Given the description of an element on the screen output the (x, y) to click on. 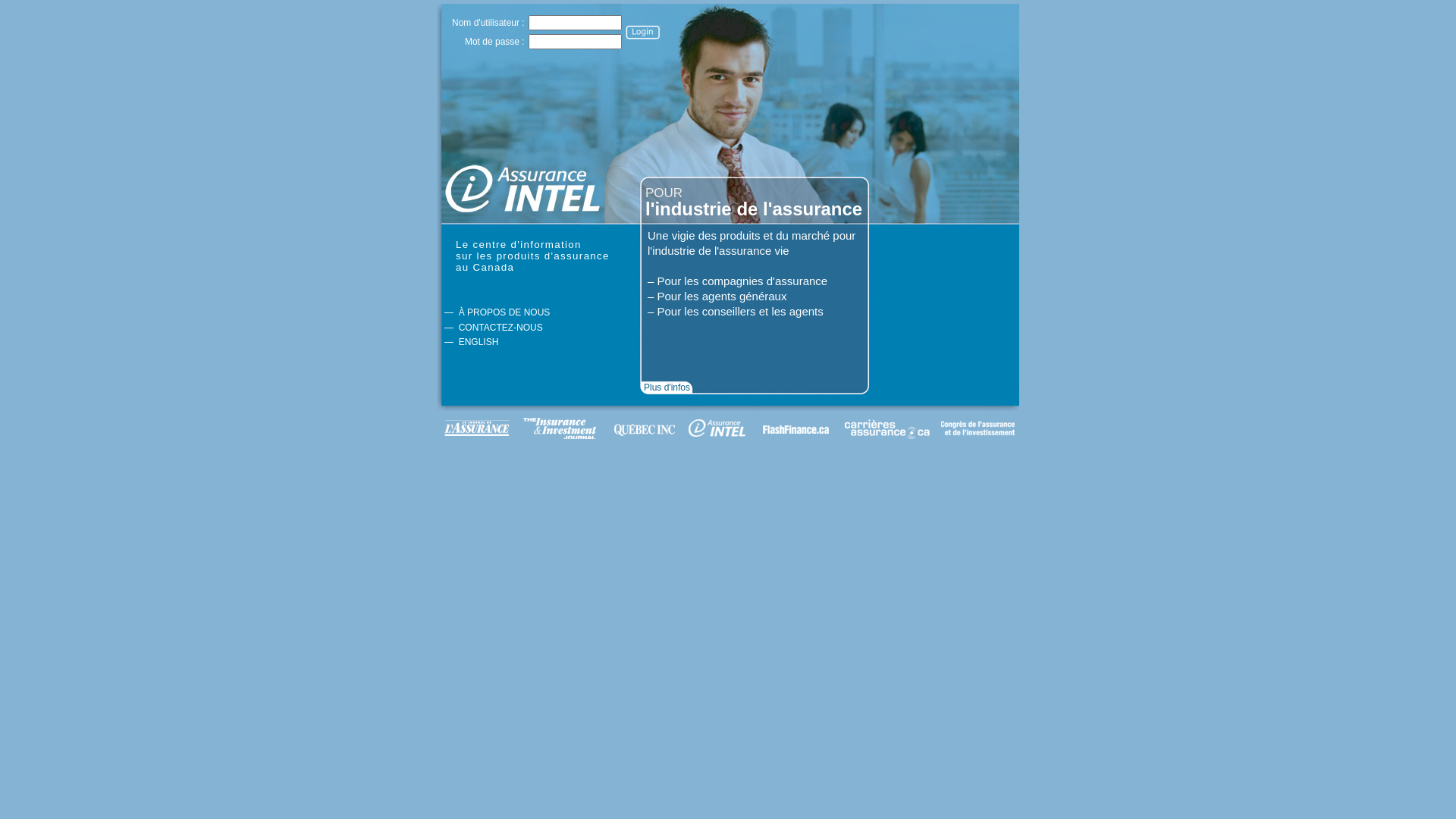
CONTACTEZ-NOUS Element type: text (500, 327)
ENGLISH Element type: text (478, 341)
